Given the description of an element on the screen output the (x, y) to click on. 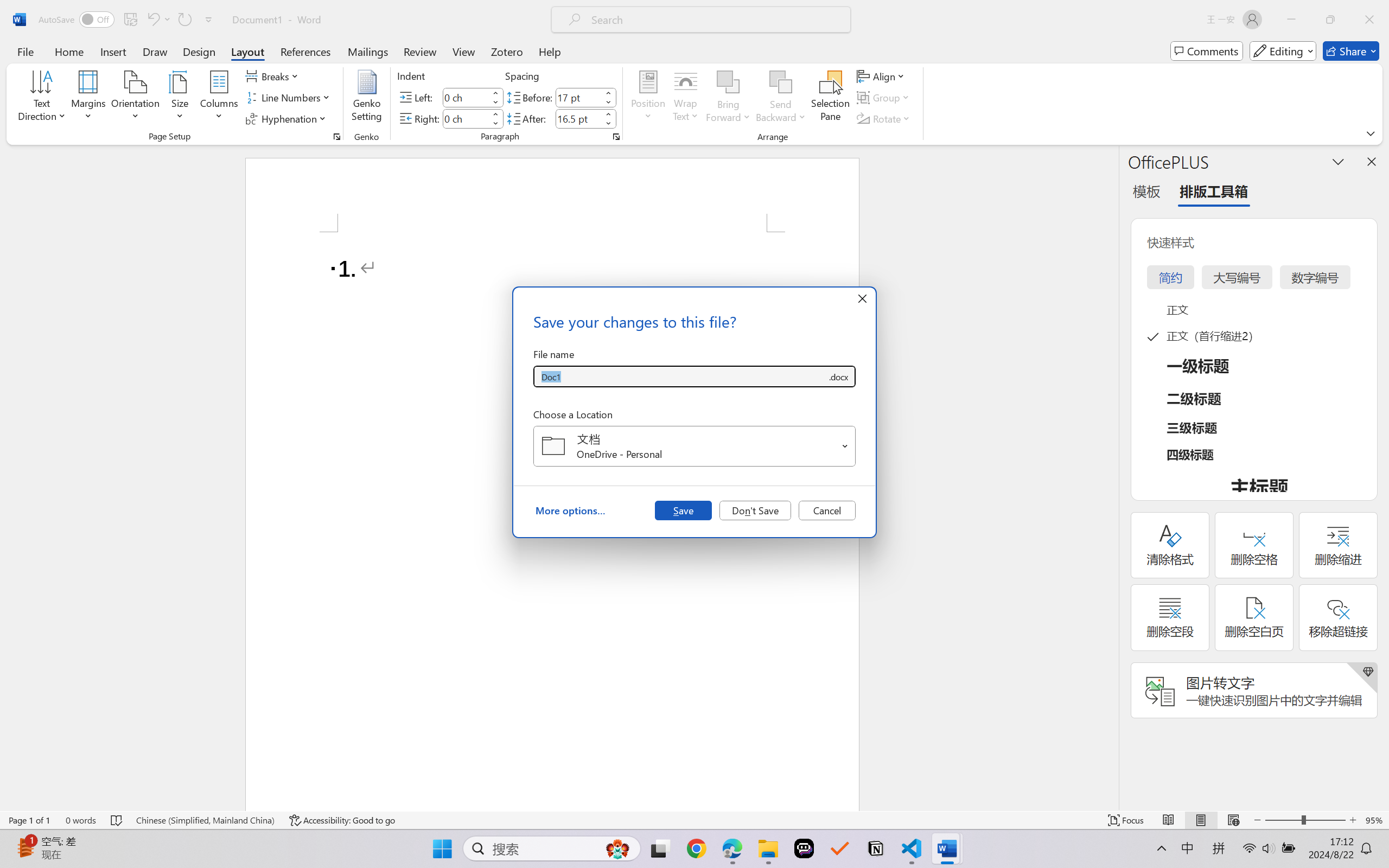
Repeat Doc Close (184, 19)
Google Chrome (696, 848)
Genko Setting... (367, 97)
Breaks (273, 75)
Bring Forward (728, 81)
Save as type (837, 376)
Cancel (826, 509)
